Given the description of an element on the screen output the (x, y) to click on. 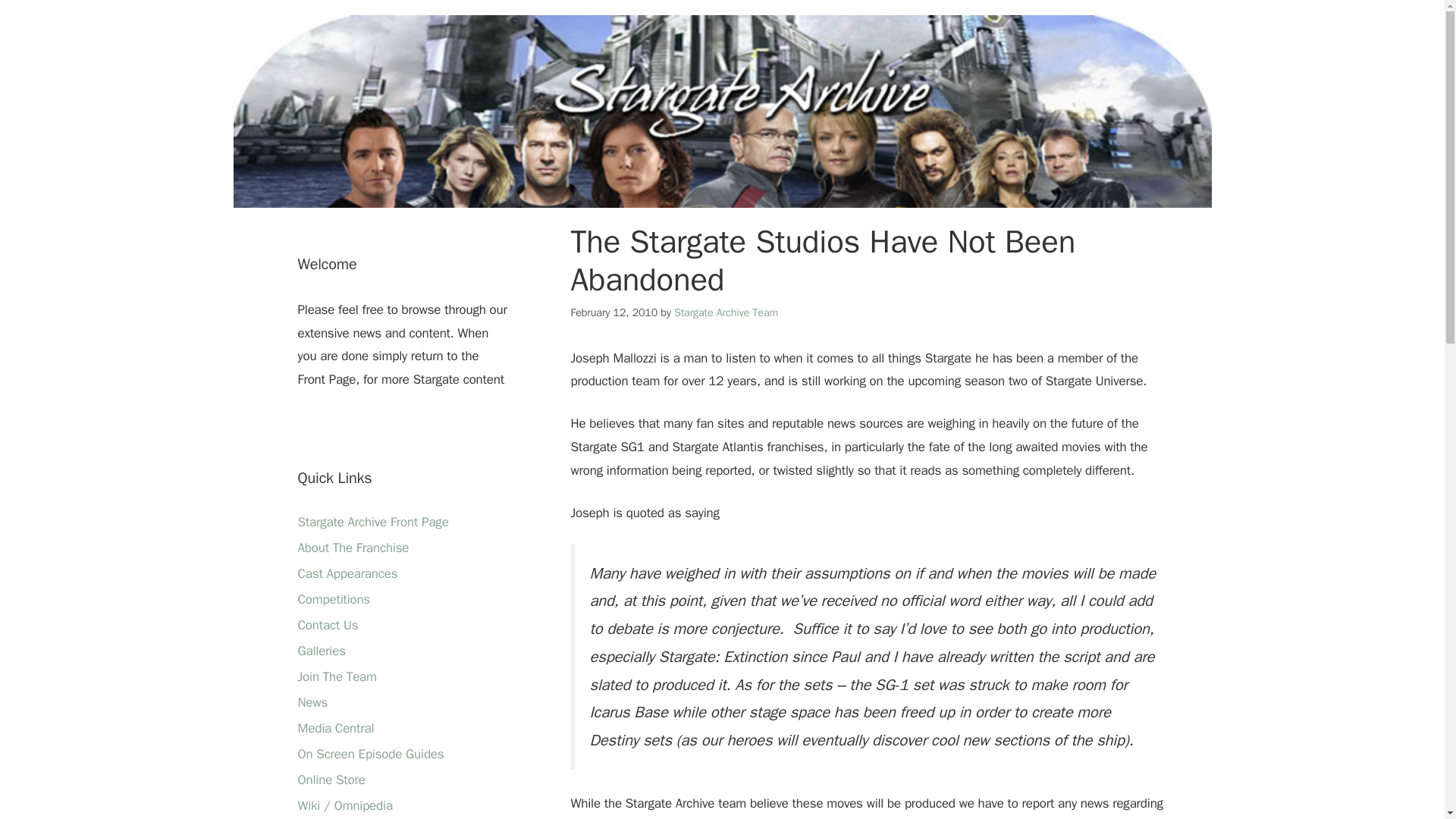
Online Store (331, 779)
Cast Appearances (347, 573)
Media Central (335, 728)
Join The Team (336, 676)
On Screen Episode Guides (370, 754)
Galleries (321, 650)
Contact Us (327, 625)
About The Franchise (353, 547)
Stargate Archive Front Page (372, 521)
Stargate Archive Team (725, 312)
Competitions (333, 599)
News (312, 702)
View all posts by Stargate Archive Team (725, 312)
